Given the description of an element on the screen output the (x, y) to click on. 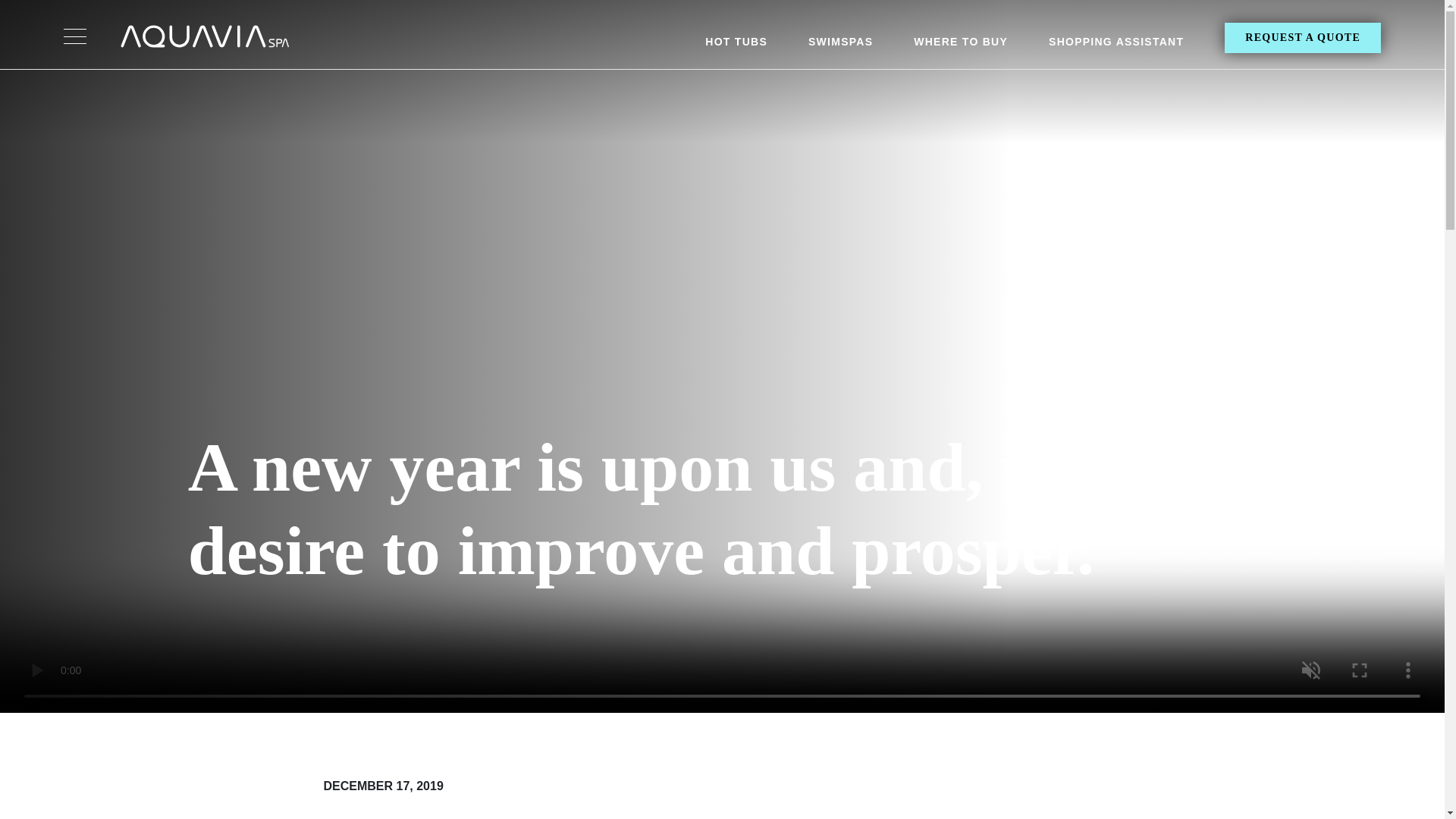
SWIMSPAS (840, 45)
HOT TUBS (735, 45)
SHOPPING ASSISTANT (1115, 45)
REQUEST A QUOTE (1302, 37)
WHERE TO BUY (960, 45)
